Given the description of an element on the screen output the (x, y) to click on. 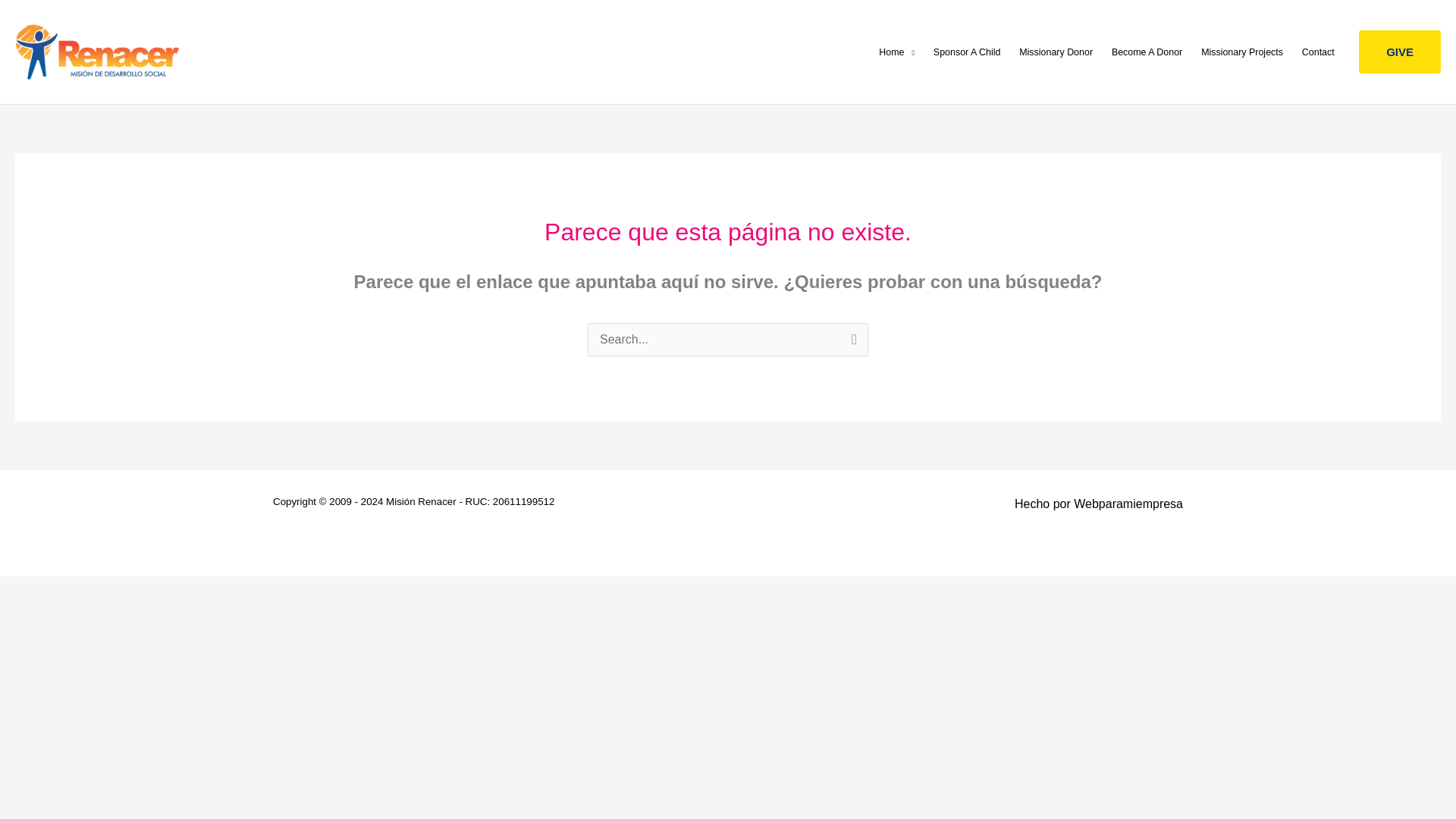
Missionary Donor (1056, 51)
Sponsor A Child (966, 51)
Missionary Projects (1242, 51)
Become A Donor (1146, 51)
Contact (1317, 51)
Home (896, 51)
GIVE (1399, 52)
